Given the description of an element on the screen output the (x, y) to click on. 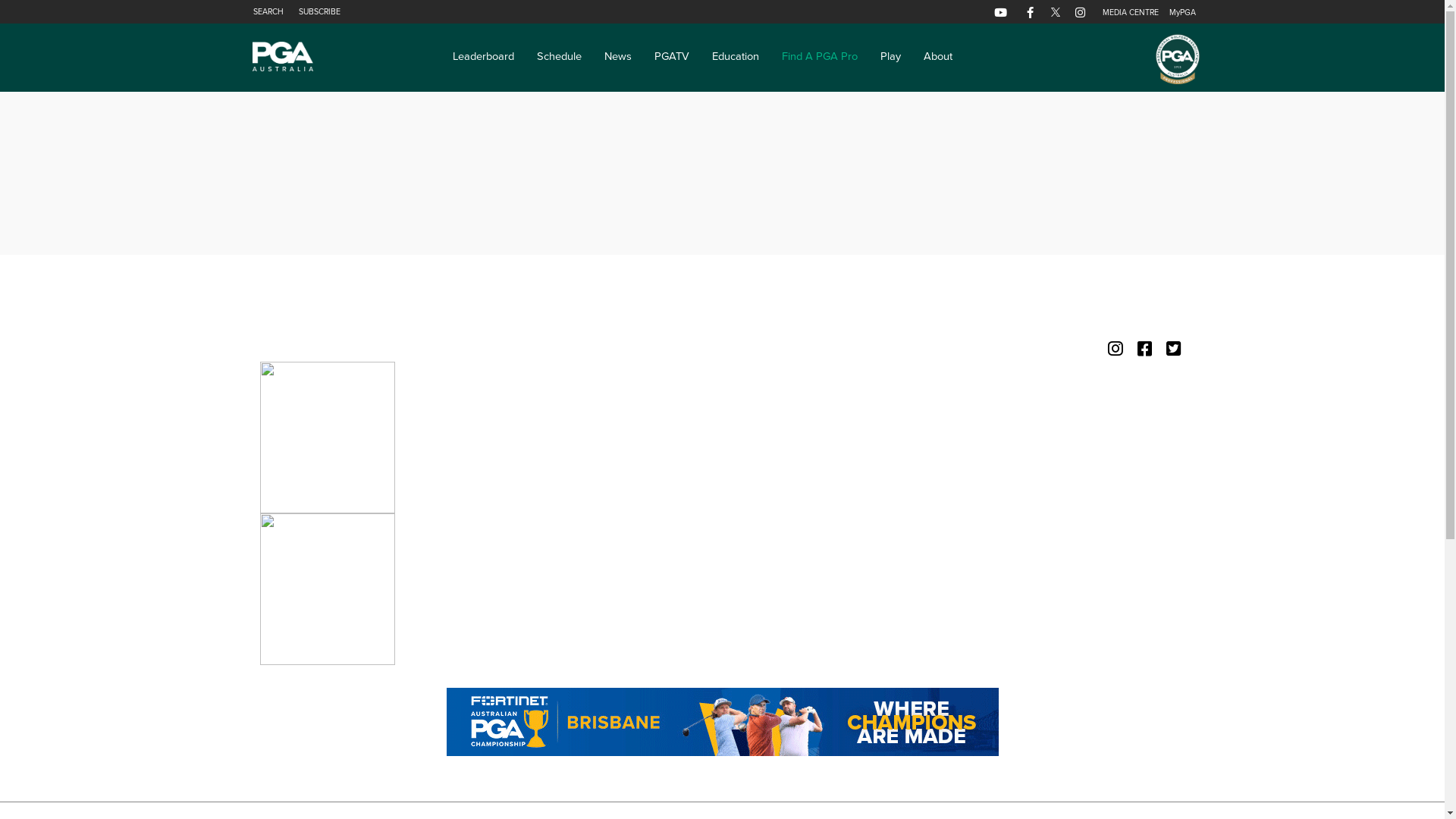
PGATV Element type: text (671, 55)
MEDIA CENTRE Element type: text (1130, 12)
MyPGA Element type: text (1178, 12)
About Element type: text (937, 55)
Leaderboard Element type: text (483, 55)
3rd party ad content Element type: hover (721, 721)
Education Element type: text (735, 55)
SEARCH Element type: text (269, 11)
Schedule Element type: text (558, 55)
Find A PGA Pro Element type: text (819, 55)
News Element type: text (617, 55)
Play Element type: text (890, 55)
SUBSCRIBE Element type: text (319, 11)
